Given the description of an element on the screen output the (x, y) to click on. 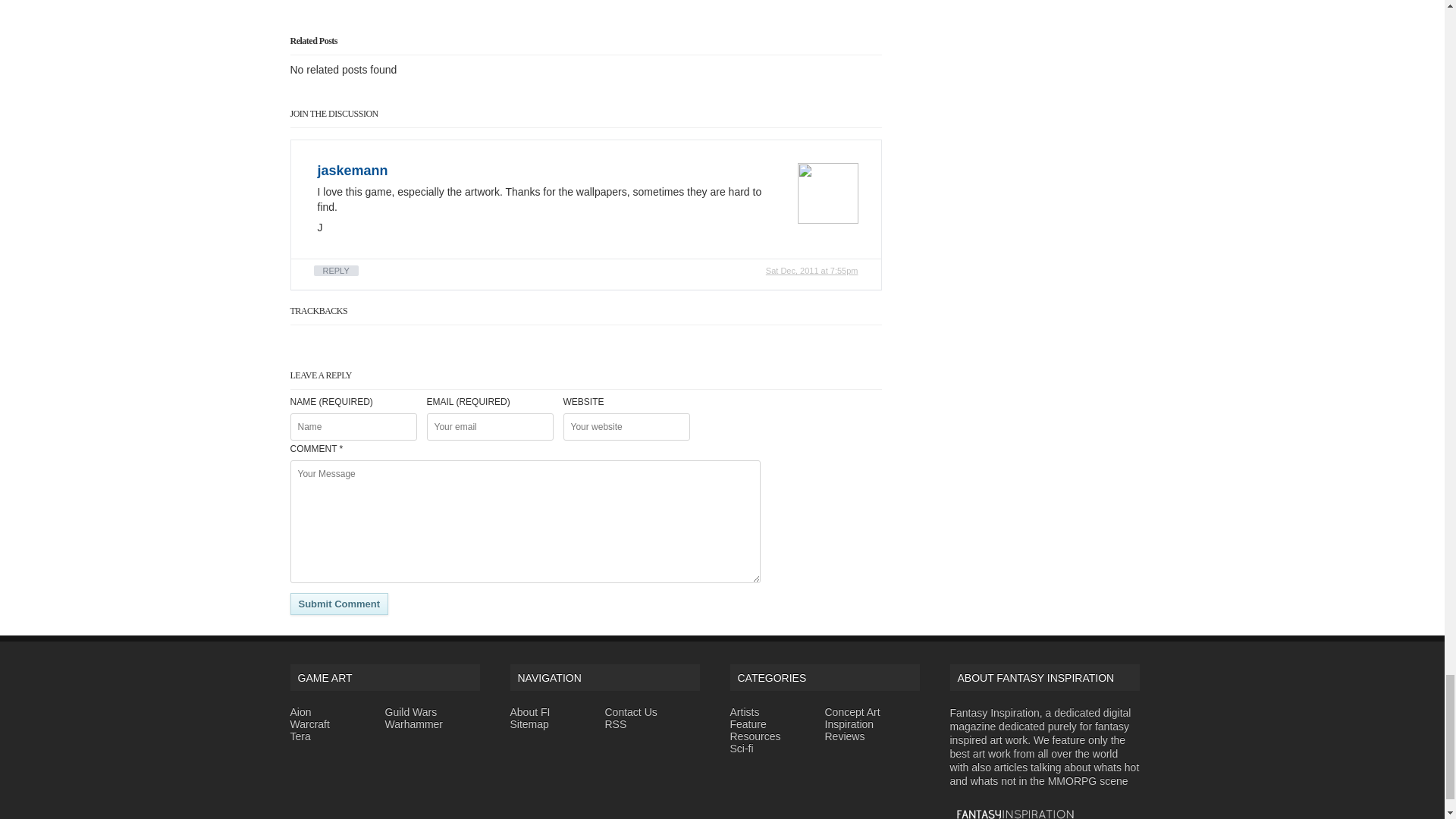
jaskemann (352, 170)
Aion (300, 711)
Submit Comment (338, 603)
Warcraft (309, 724)
Warhammer (414, 724)
Warcraft (309, 724)
Aion: Tower of Eternity (300, 711)
About FI (529, 711)
Tera (299, 736)
Name (352, 426)
Guild Wars (411, 711)
Guild Wars (411, 711)
Submit Comment (338, 603)
Your email (489, 426)
Your website (625, 426)
